Given the description of an element on the screen output the (x, y) to click on. 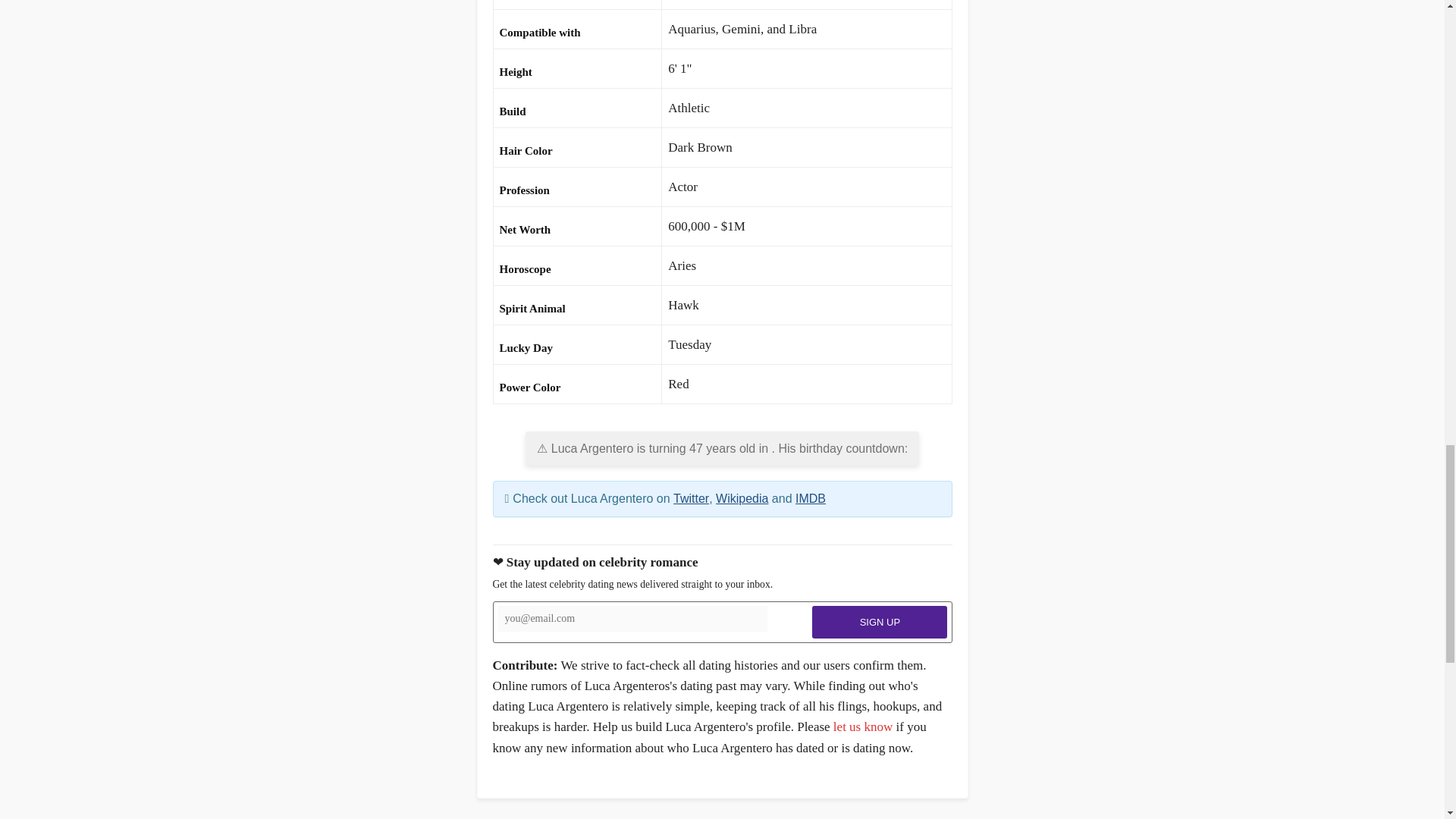
IMDB (809, 498)
Wikipedia (742, 498)
SIGN UP (879, 622)
SIGN UP (879, 622)
let us know (862, 726)
Twitter (690, 498)
